Given the description of an element on the screen output the (x, y) to click on. 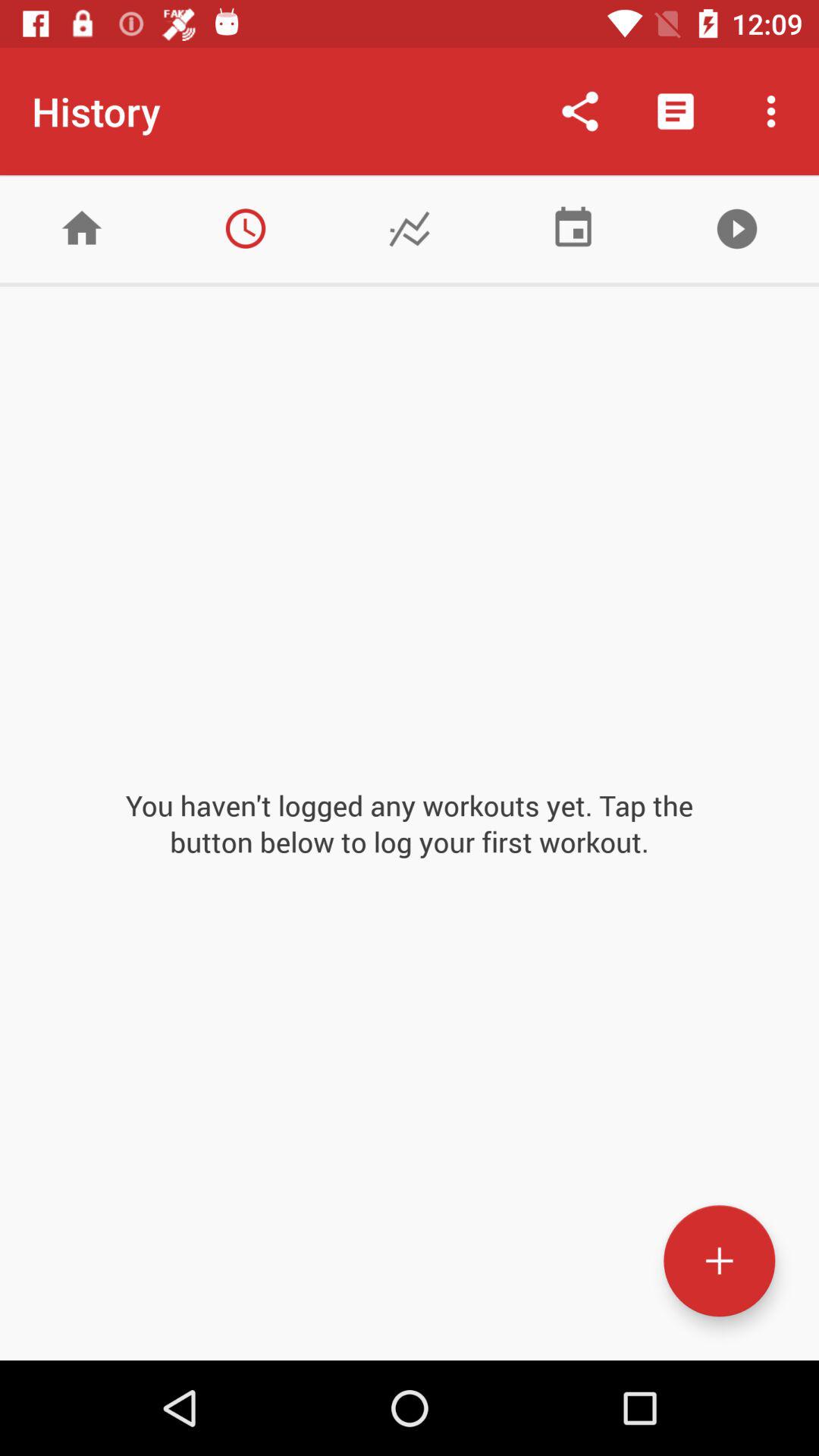
home button (81, 228)
